Given the description of an element on the screen output the (x, y) to click on. 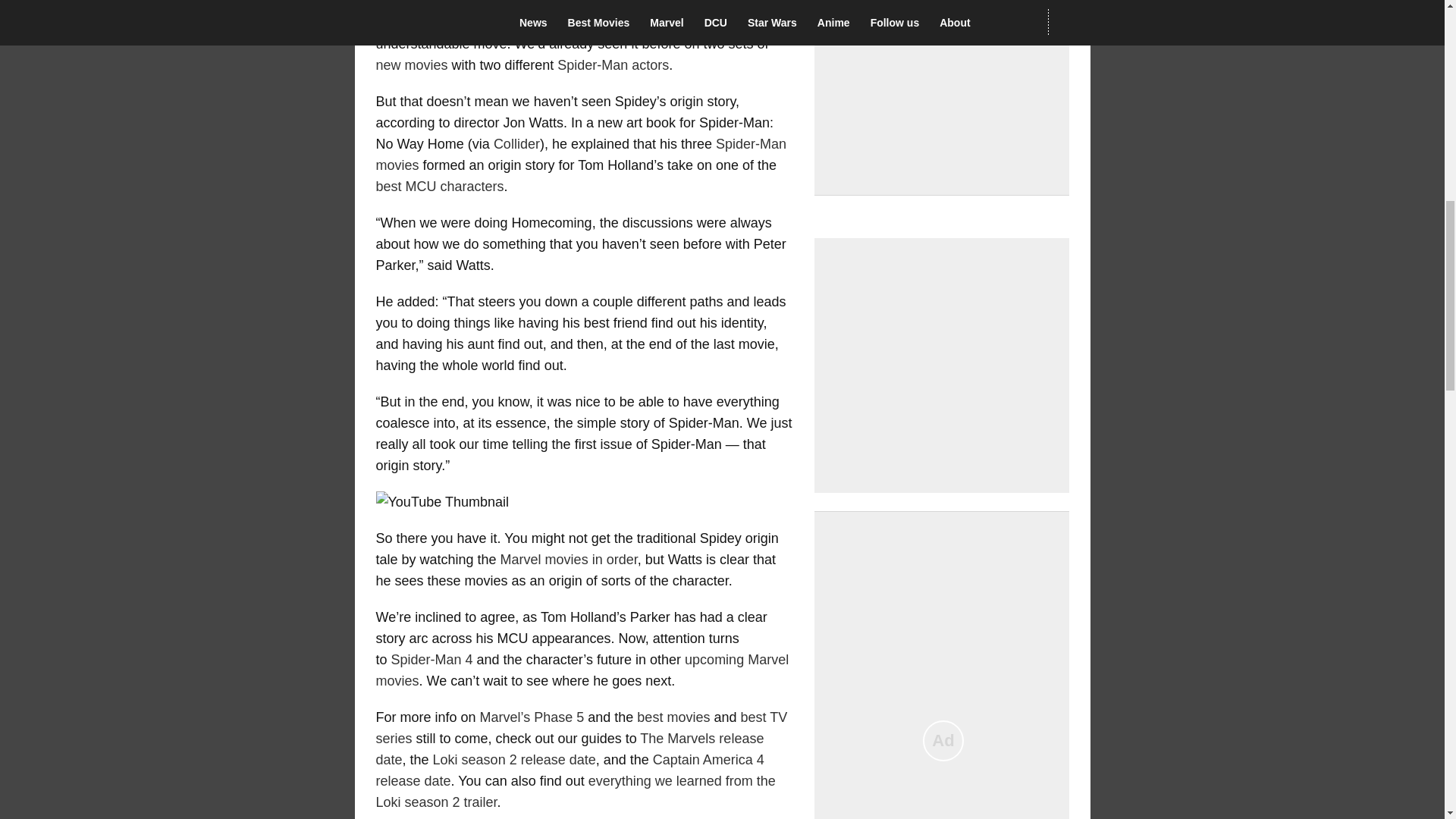
new movies (411, 64)
Spider-Man actors (612, 64)
Collider (516, 143)
Spider-Man (575, 15)
